Given the description of an element on the screen output the (x, y) to click on. 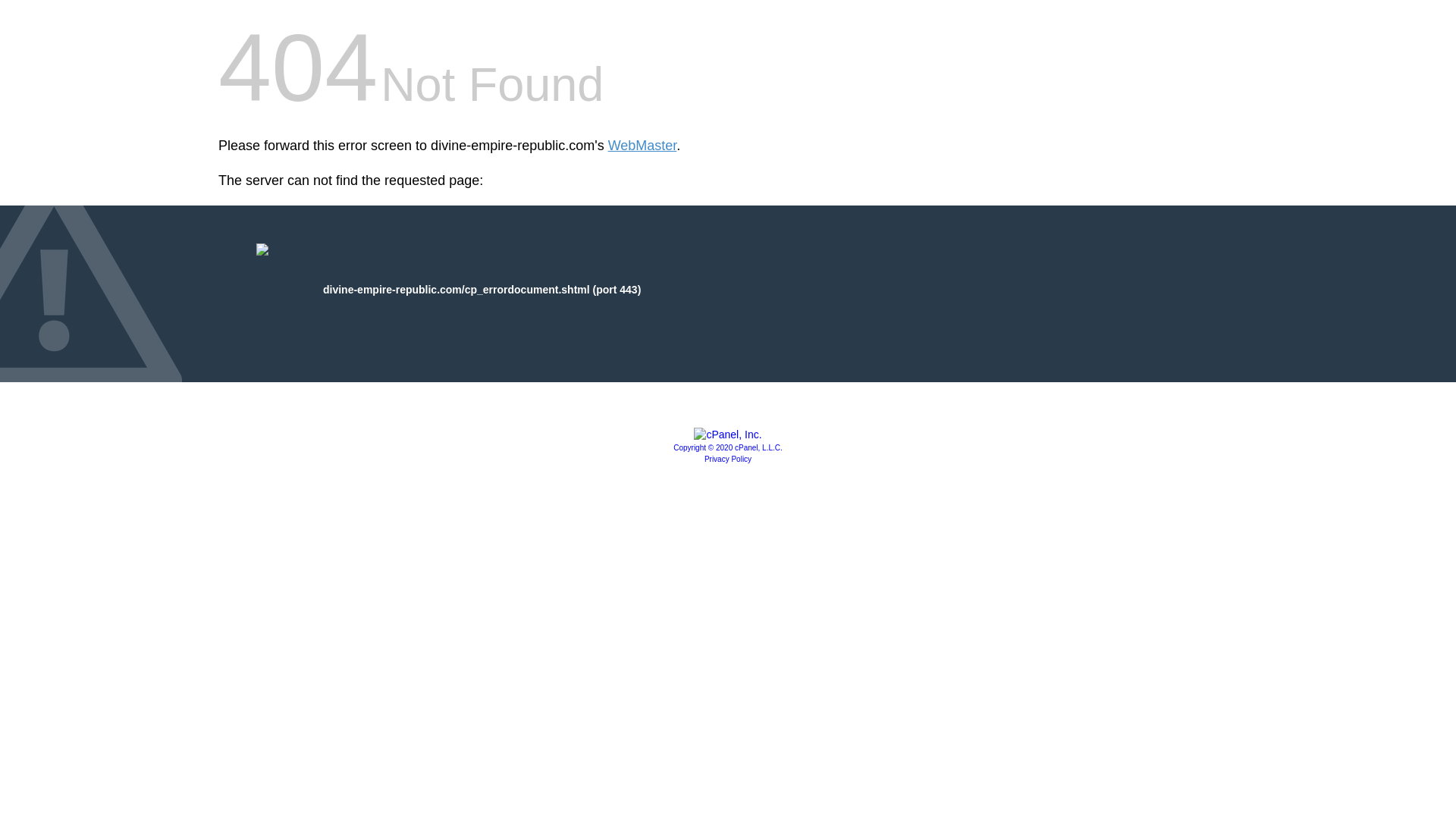
cPanel, Inc. (727, 447)
cPanel, Inc. (727, 434)
Privacy Policy (727, 459)
WebMaster (642, 145)
